Given the description of an element on the screen output the (x, y) to click on. 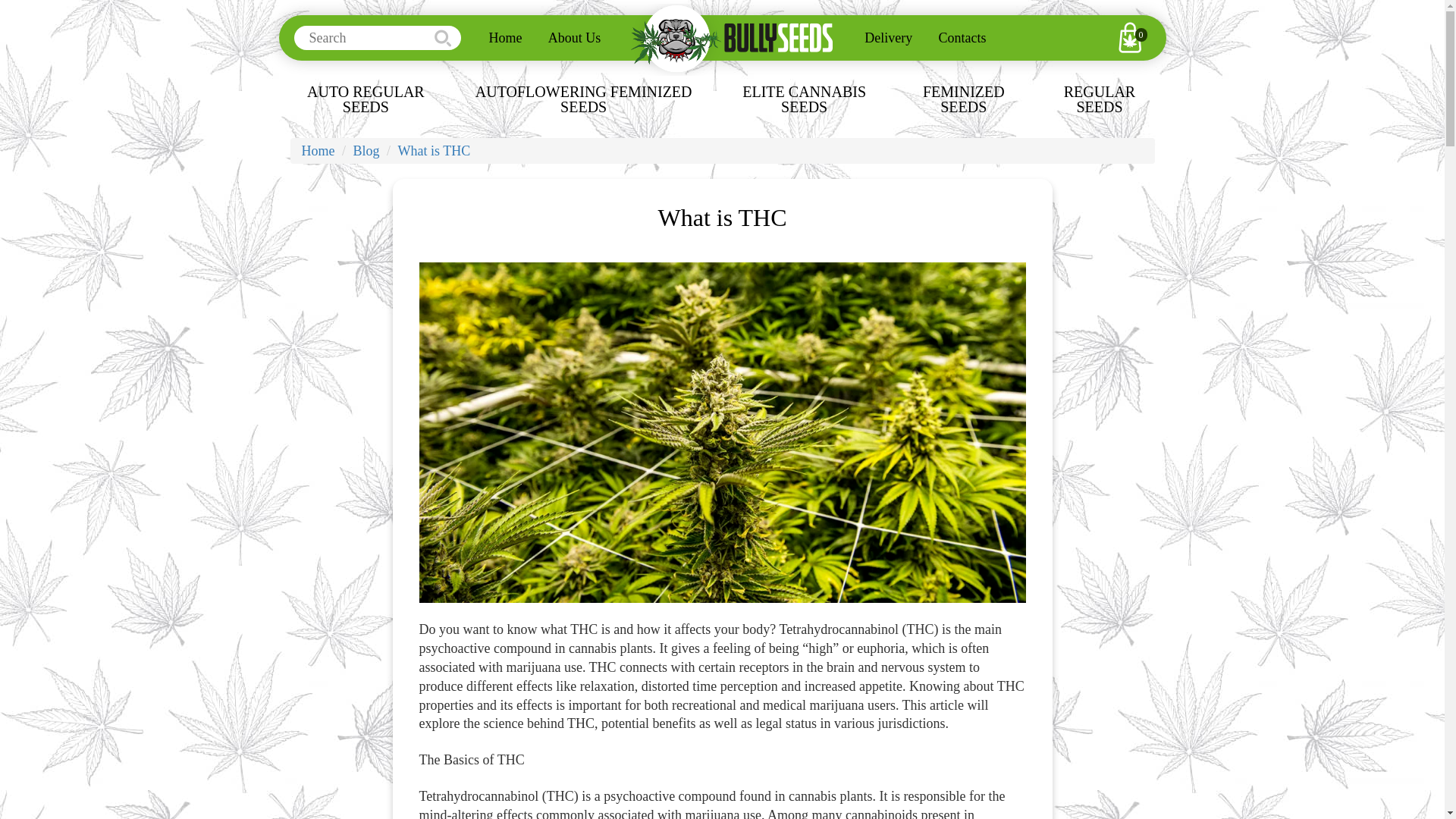
Home (317, 150)
ELITE CANNABIS SEEDS (803, 99)
AUTOFLOWERING FEMINIZED SEEDS (582, 99)
What is THC (433, 150)
Contacts (961, 37)
Blog (366, 150)
Delivery (887, 37)
BullySeeds (732, 40)
REGULAR SEEDS (1098, 99)
About Us (574, 37)
FEMINIZED SEEDS (963, 99)
Home (505, 37)
AUTO REGULAR SEEDS (365, 99)
